Given the description of an element on the screen output the (x, y) to click on. 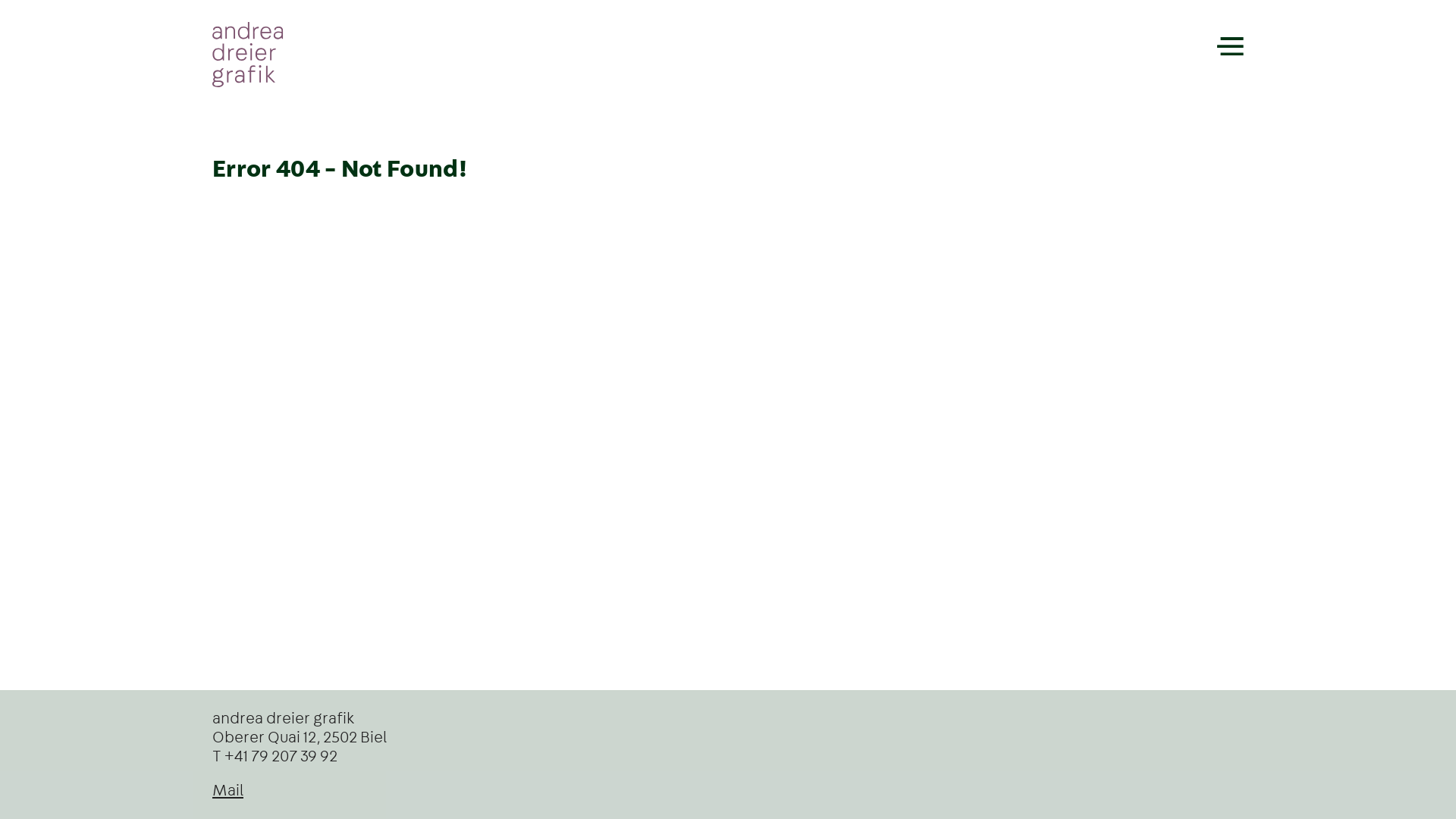
Mail Element type: text (227, 790)
